Given the description of an element on the screen output the (x, y) to click on. 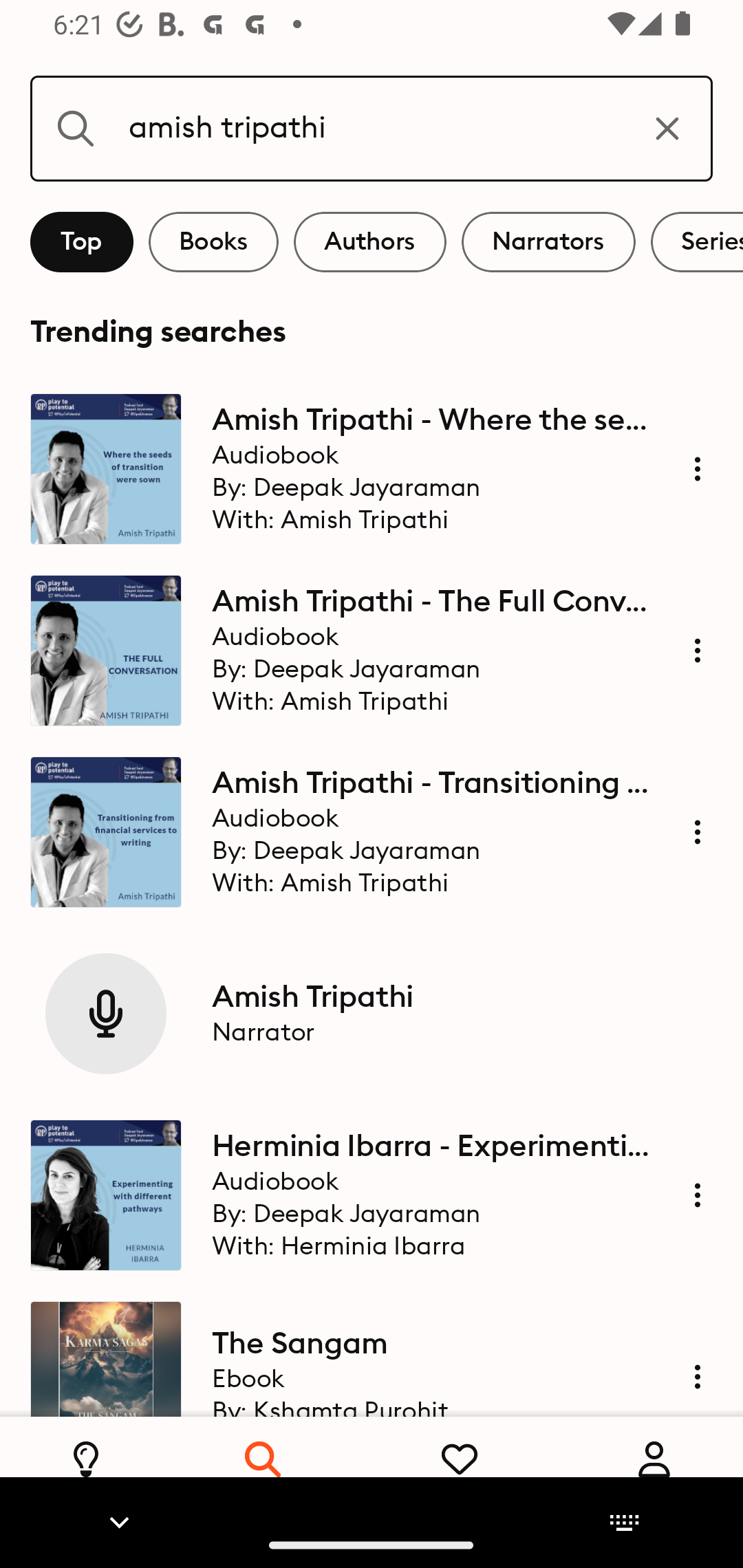
amish tripathi (371, 128)
Top (81, 241)
Books (213, 241)
Authors (369, 241)
Narrators (548, 241)
Series (696, 241)
Amish Tripathi Narrator (371, 1013)
